Given the description of an element on the screen output the (x, y) to click on. 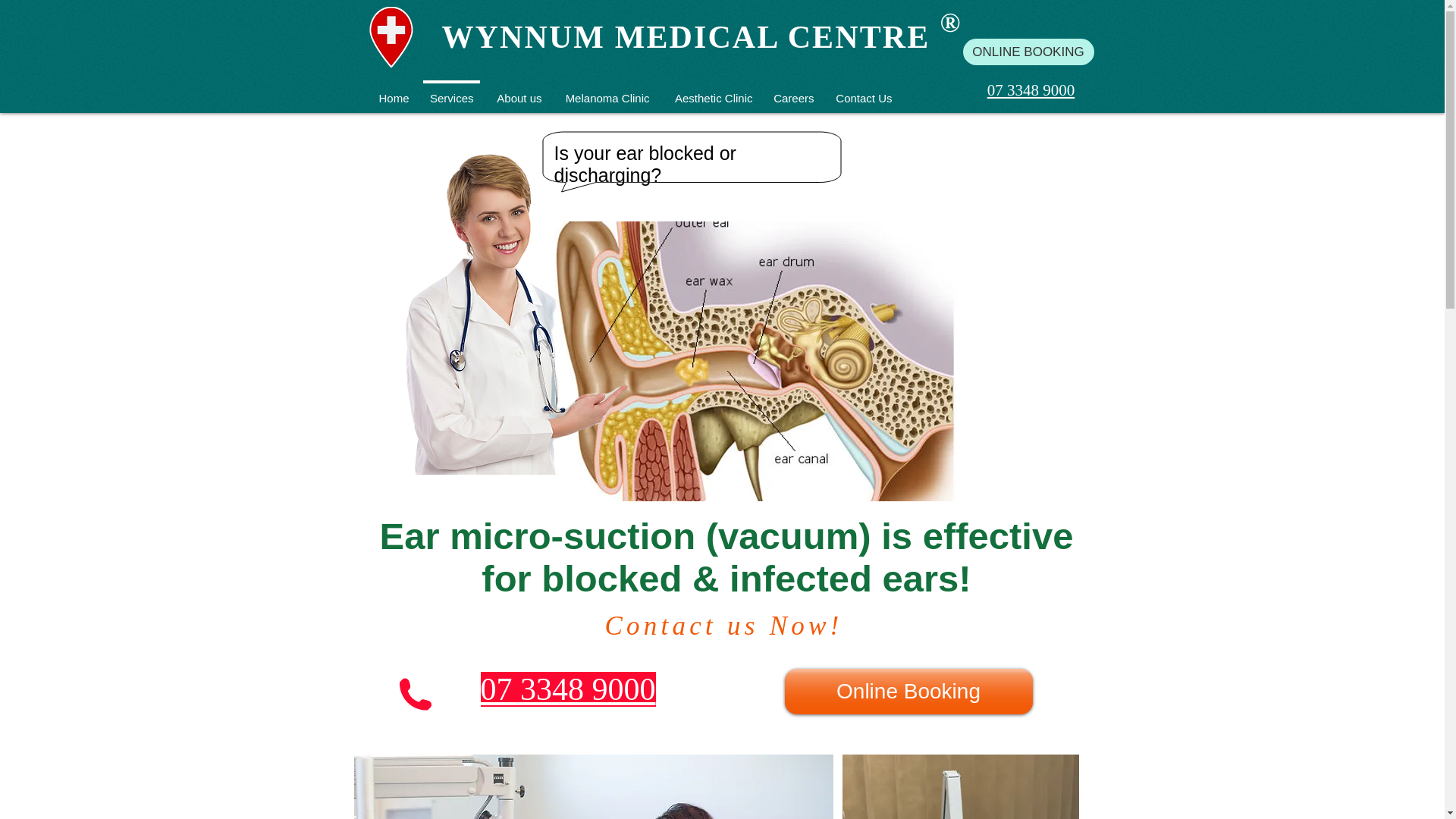
Melanoma Clinic (605, 91)
Online Booking (908, 691)
Home (392, 91)
Contact Us (862, 91)
ONLINE BOOKING (1028, 51)
WYNNUM MEDICAL CENTRE (685, 36)
Services (451, 91)
Aesthetic Clinic (710, 91)
07 3348 9000 (568, 688)
07 3348 9000 (1031, 89)
